Given the description of an element on the screen output the (x, y) to click on. 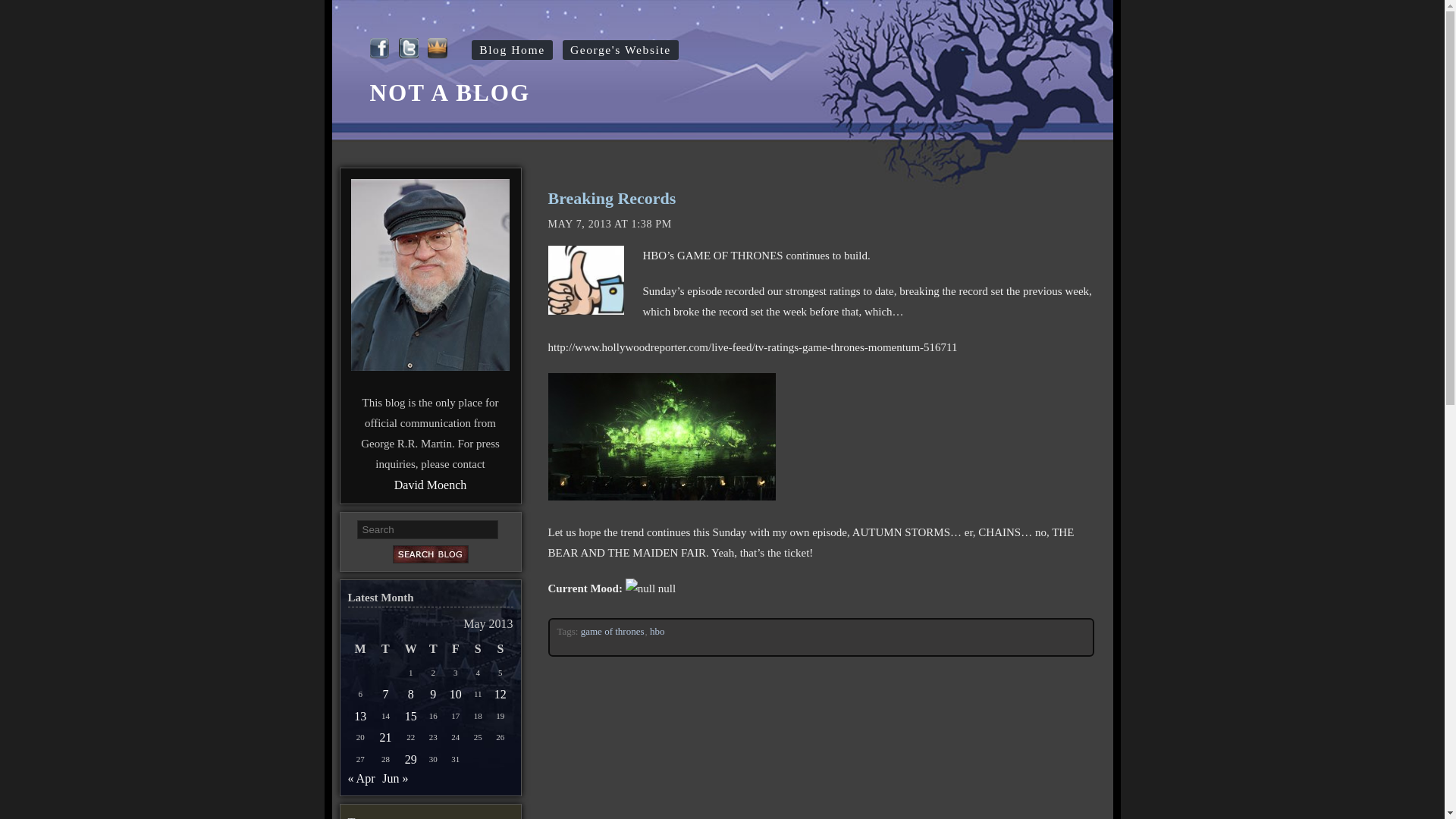
game of thrones (612, 631)
David Moench (430, 484)
Wednesday (410, 649)
Search (426, 529)
12 (500, 693)
Blog Home (511, 49)
21 (385, 737)
10 (455, 693)
hbo (657, 631)
29 (410, 759)
